Given the description of an element on the screen output the (x, y) to click on. 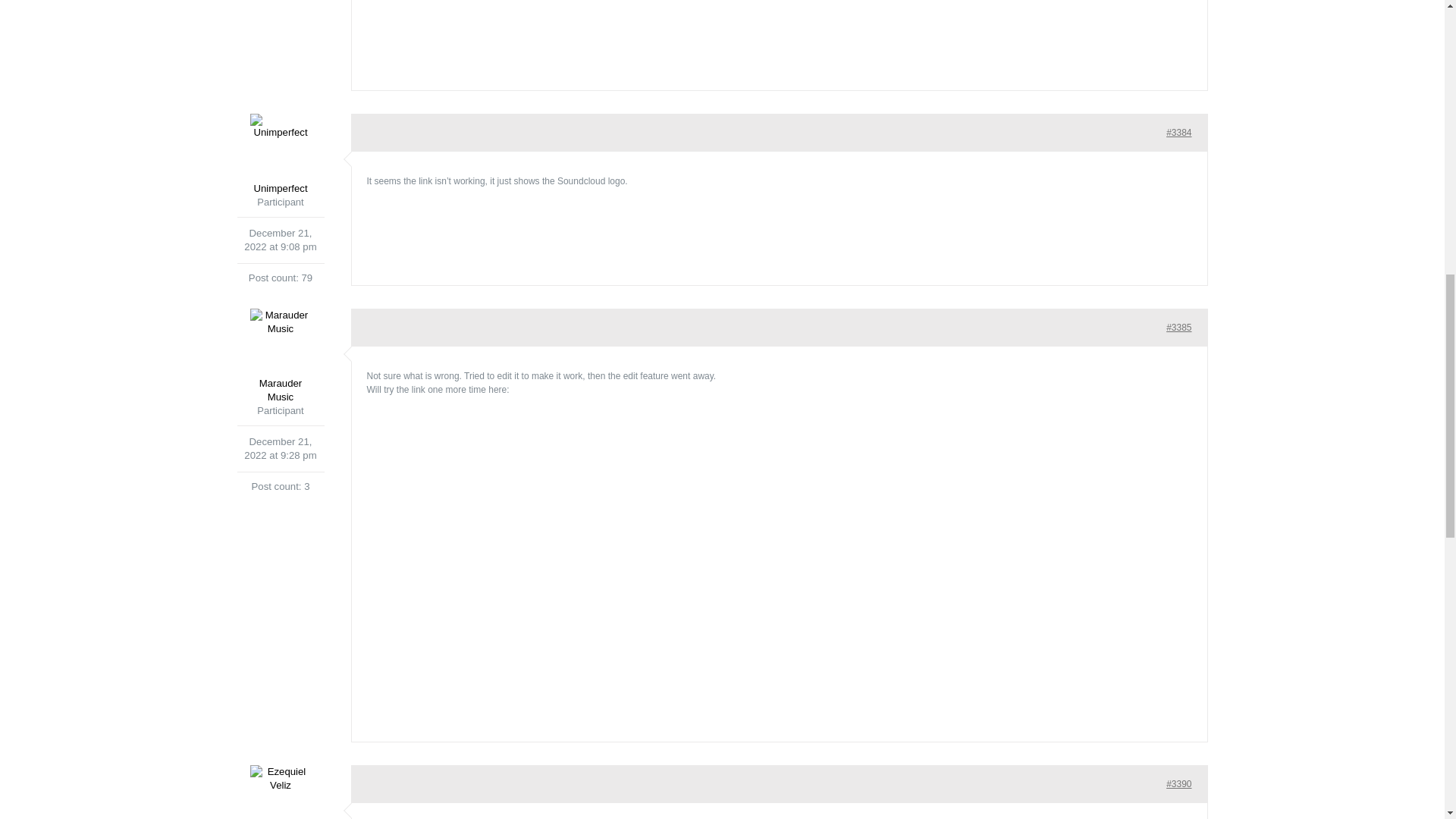
View Unimperfect's profile (279, 154)
View Ezequiel Veliz's profile (279, 792)
Maraude Music Dead To The World Mix Remix by Maraudermusicus (852, 31)
Ezequiel Veliz (279, 792)
View Marauder Music's profile (279, 356)
Unimperfect (279, 154)
Marauder Music (279, 356)
